Given the description of an element on the screen output the (x, y) to click on. 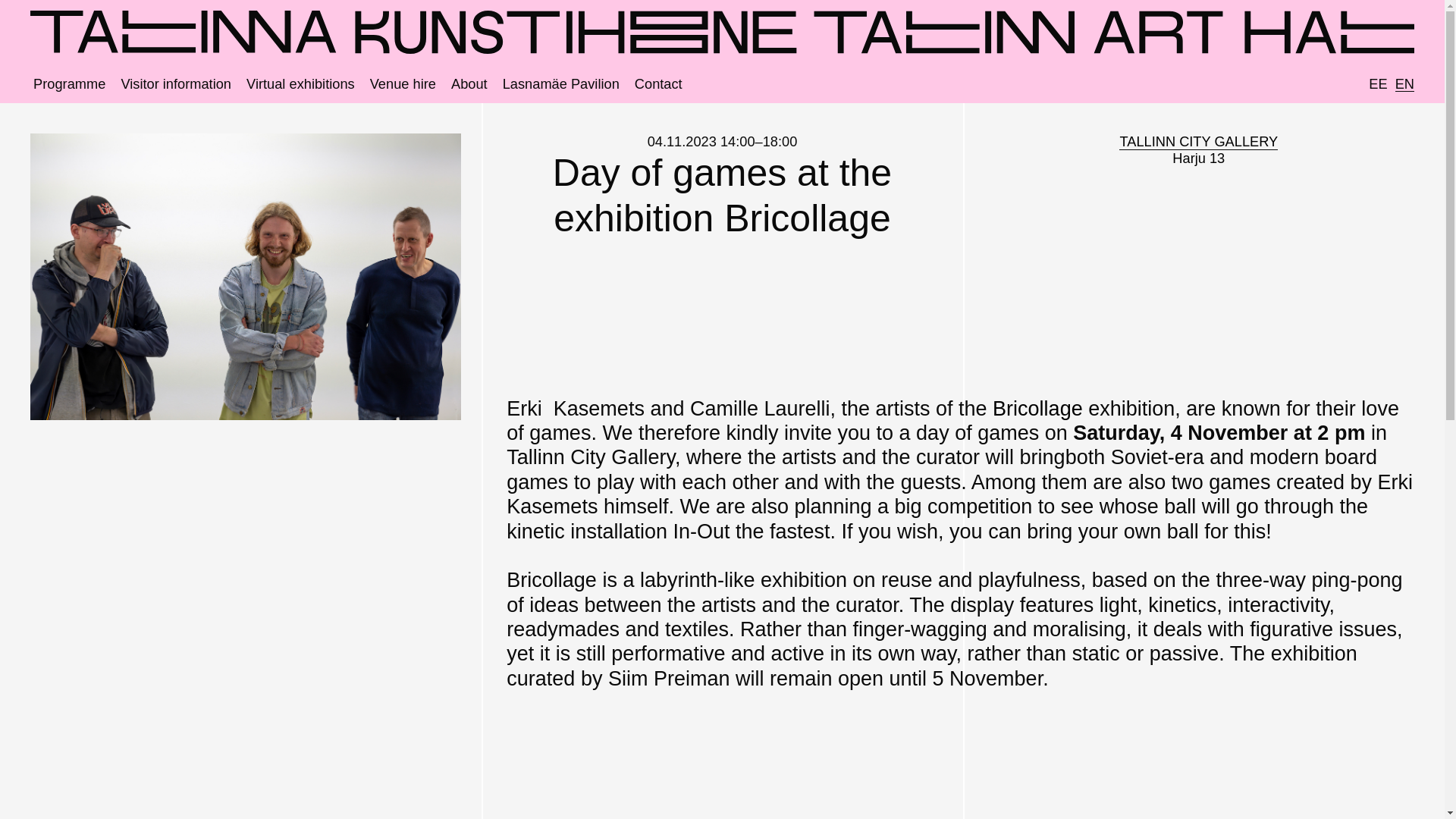
Visitor information (175, 83)
Bricollage (1037, 408)
Virtual exhibitions (300, 83)
EE (1377, 83)
EN (1198, 150)
About (1403, 83)
Contact (469, 83)
Programme (658, 83)
Venue hire (68, 83)
